Given the description of an element on the screen output the (x, y) to click on. 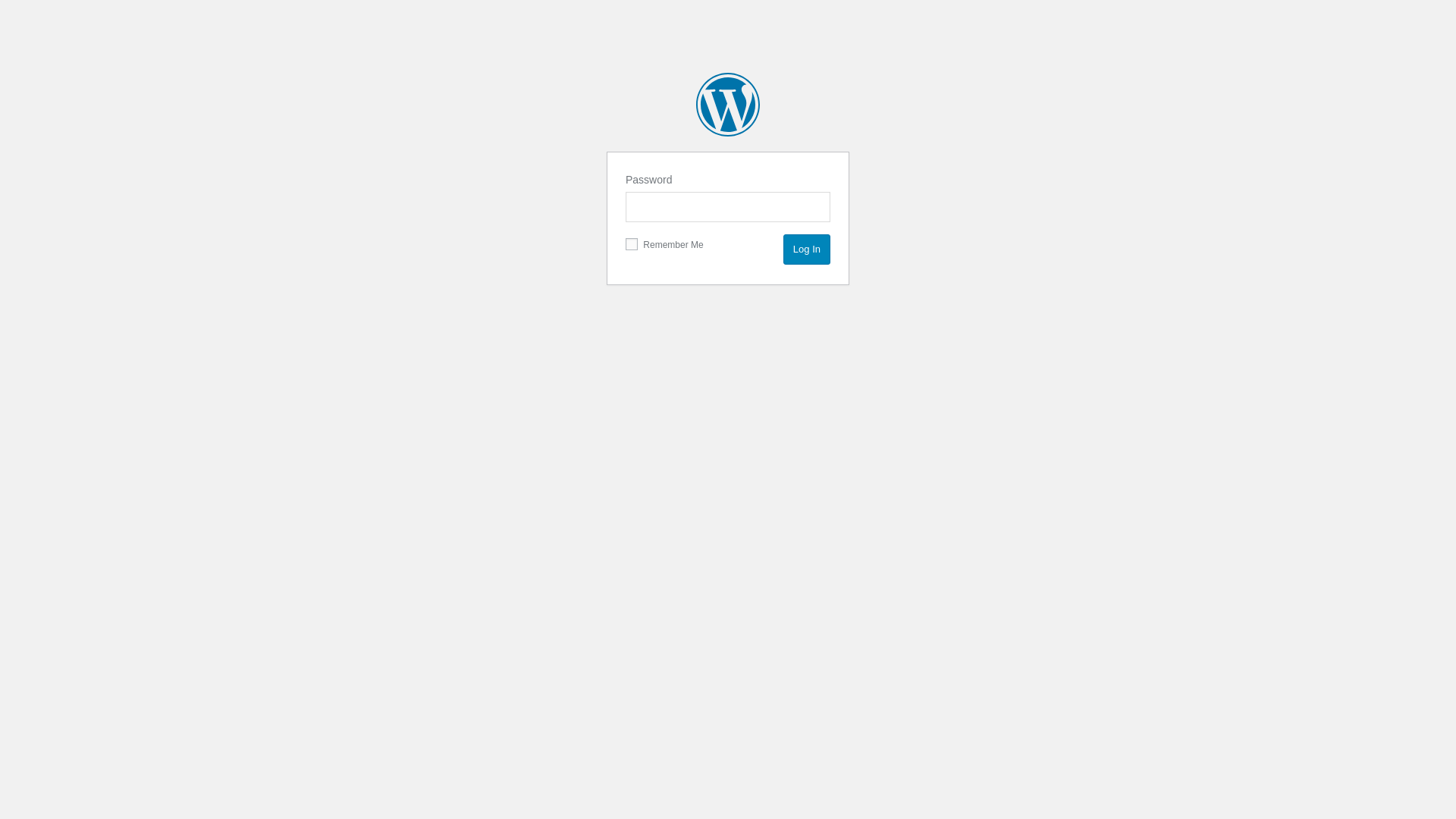
Log In Element type: text (806, 249)
Golden Kin Element type: text (727, 104)
